Given the description of an element on the screen output the (x, y) to click on. 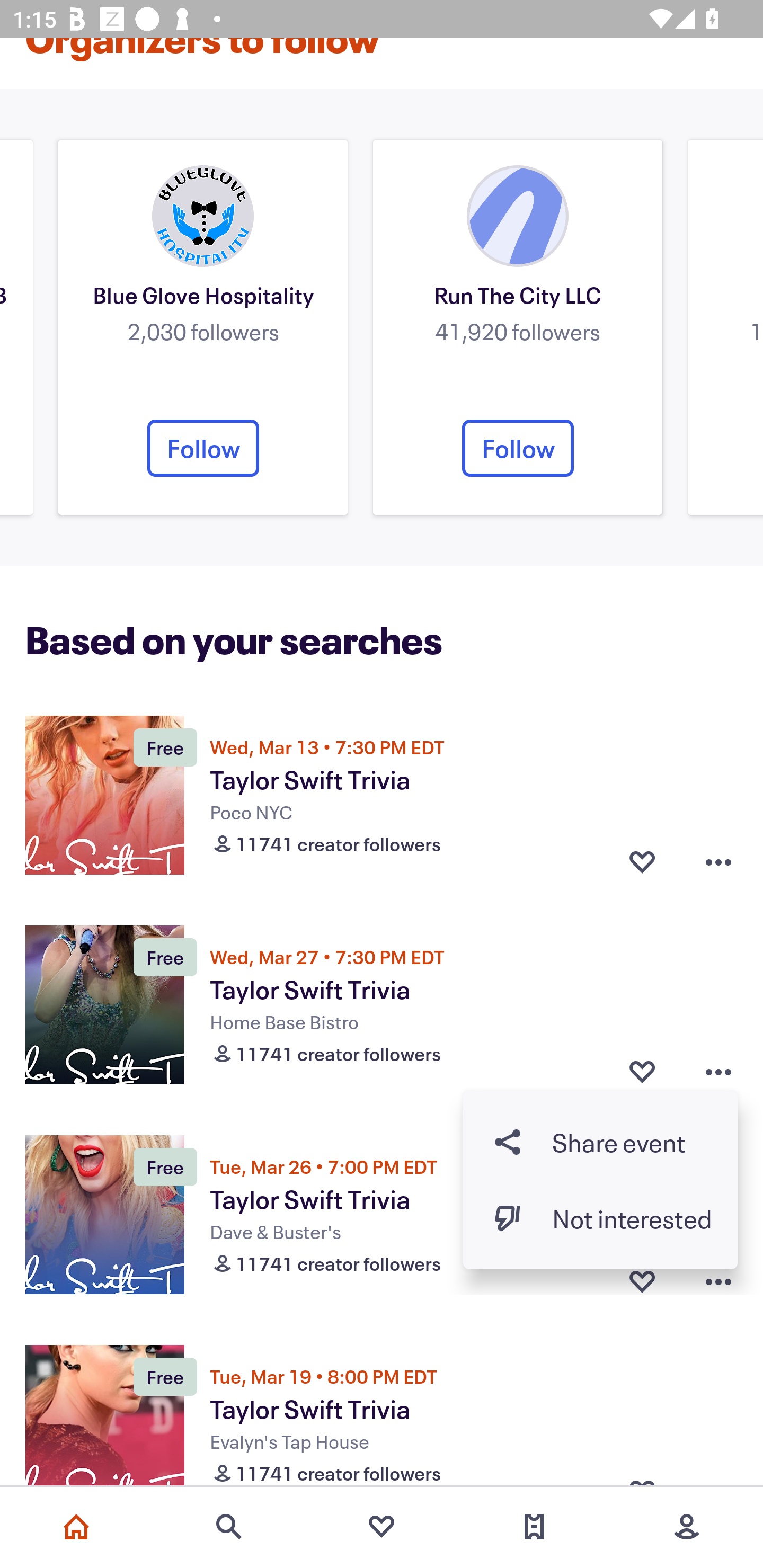
Share button Share event (600, 1141)
Dislike event button Not interested (600, 1217)
